Given the description of an element on the screen output the (x, y) to click on. 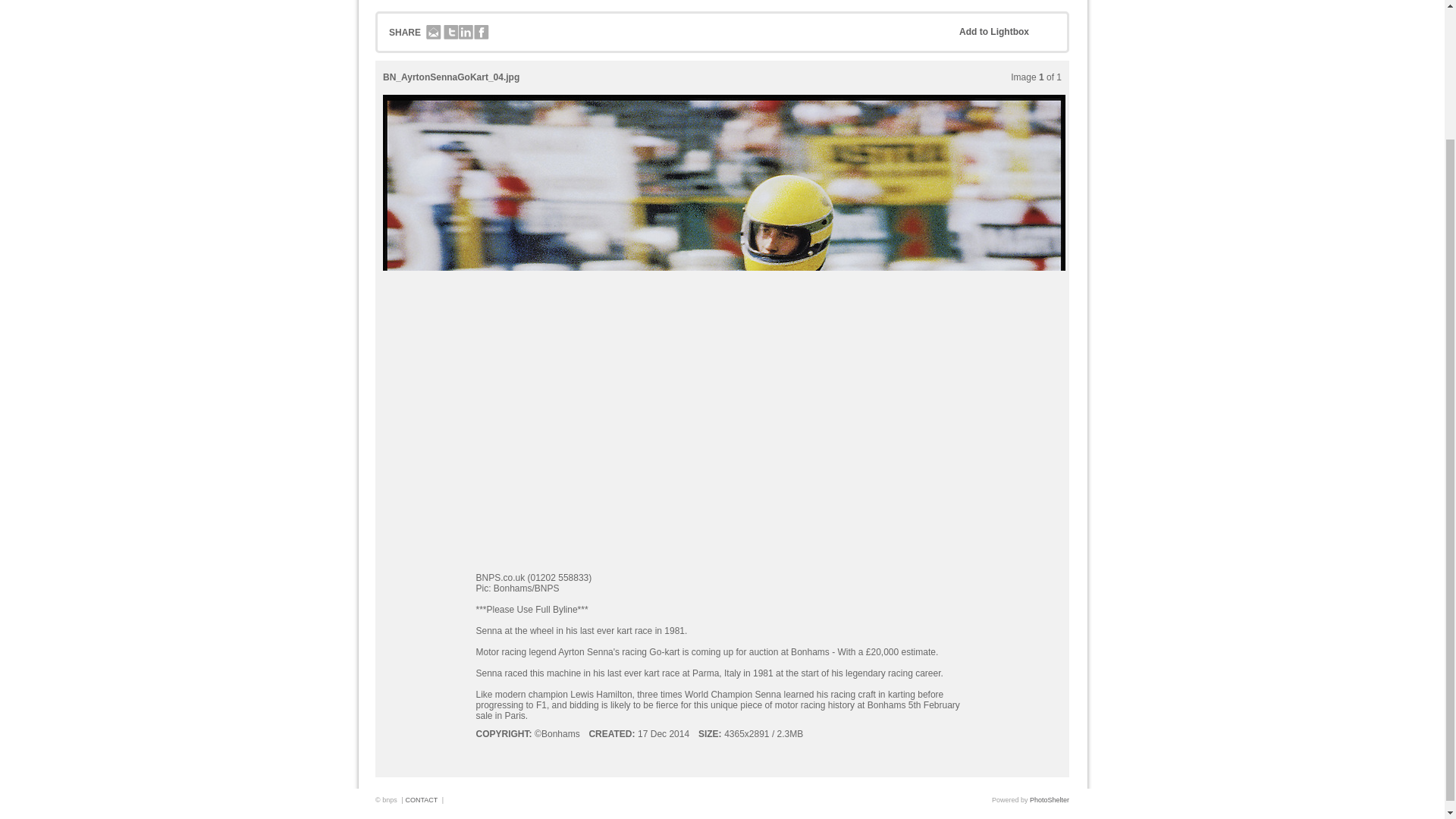
Add to Lightbox (1005, 32)
CONTACT (421, 799)
PhotoShelter (1048, 799)
Email to a Friend (433, 32)
